Given the description of an element on the screen output the (x, y) to click on. 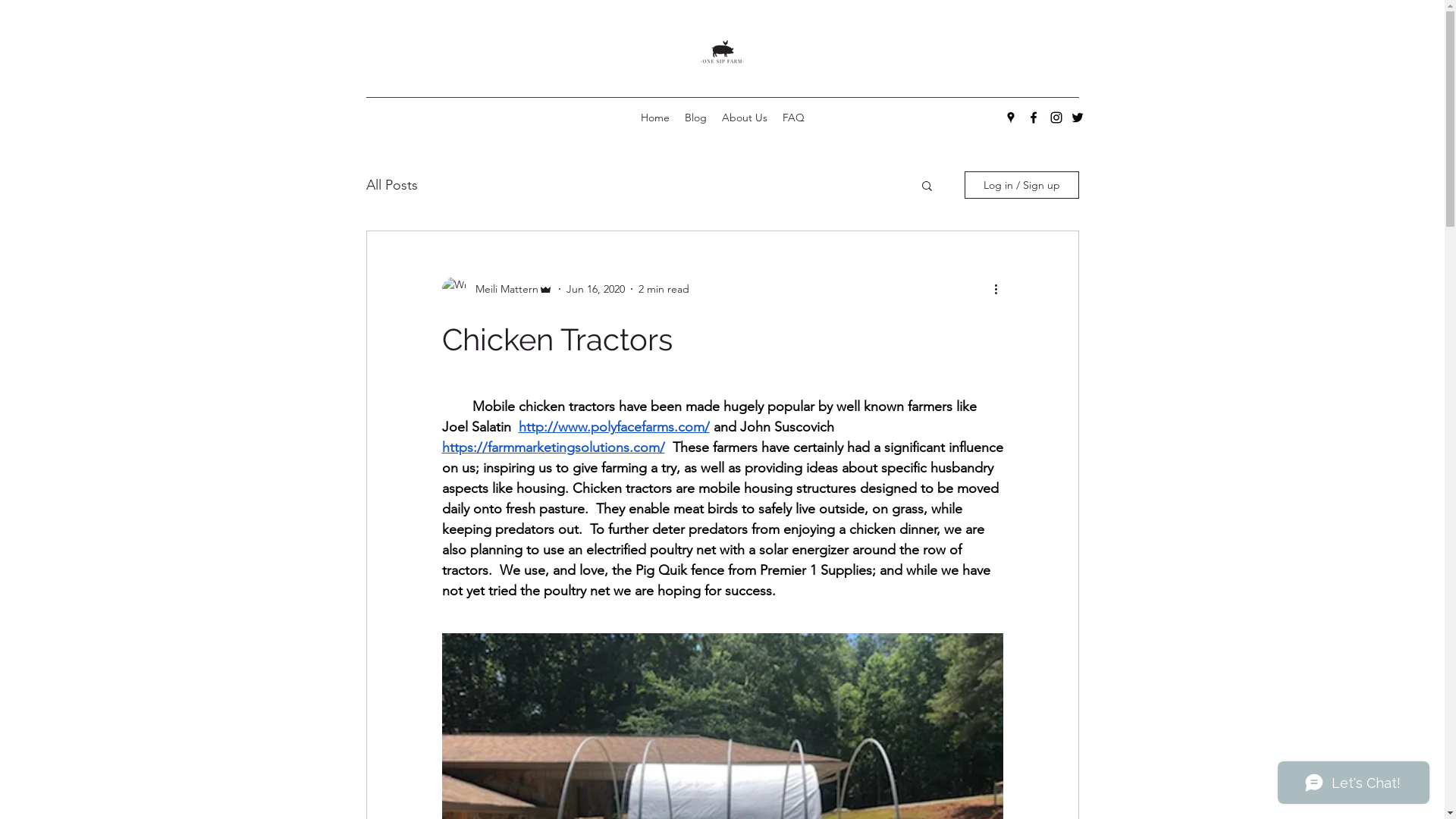
https://farmmarketingsolutions.com/ Element type: text (552, 447)
http://www.polyfacefarms.com/ Element type: text (613, 426)
All Posts Element type: text (391, 184)
Blog Element type: text (694, 117)
Log in / Sign up Element type: text (1021, 184)
FAQ Element type: text (793, 117)
Home Element type: text (654, 117)
About Us Element type: text (744, 117)
